Given the description of an element on the screen output the (x, y) to click on. 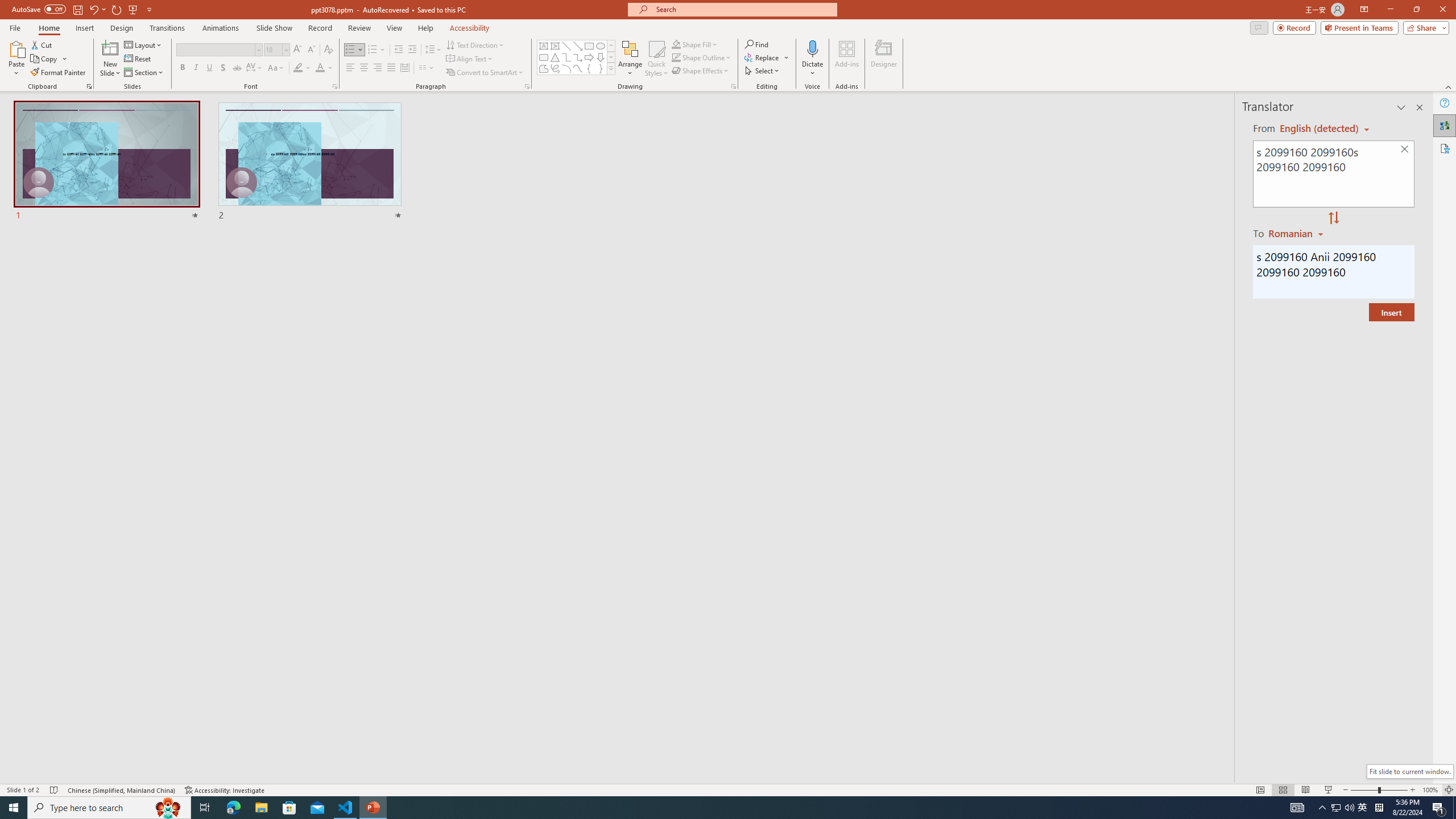
Rectangle: Rounded Corners (543, 57)
Font Color Red (320, 67)
Decrease Indent (398, 49)
Line Arrow (577, 45)
